Given the description of an element on the screen output the (x, y) to click on. 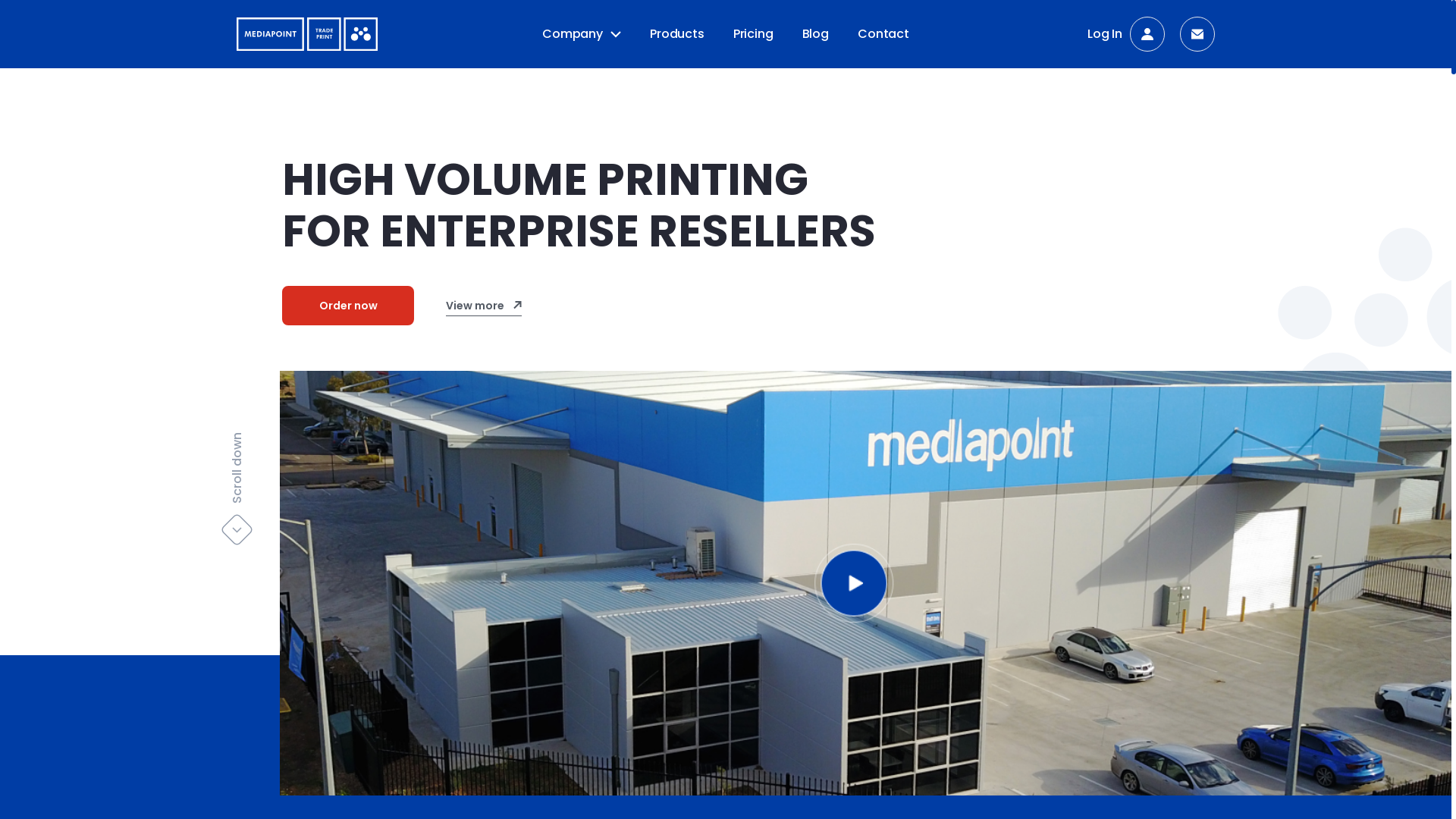
Pricing Element type: text (753, 33)
Products Element type: text (676, 33)
Order now Element type: text (348, 305)
View more Element type: text (483, 305)
Scroll down Element type: text (276, 449)
Company Element type: text (581, 33)
Contact Element type: text (883, 33)
Log In Element type: text (1125, 33)
Blog Element type: text (815, 33)
